Given the description of an element on the screen output the (x, y) to click on. 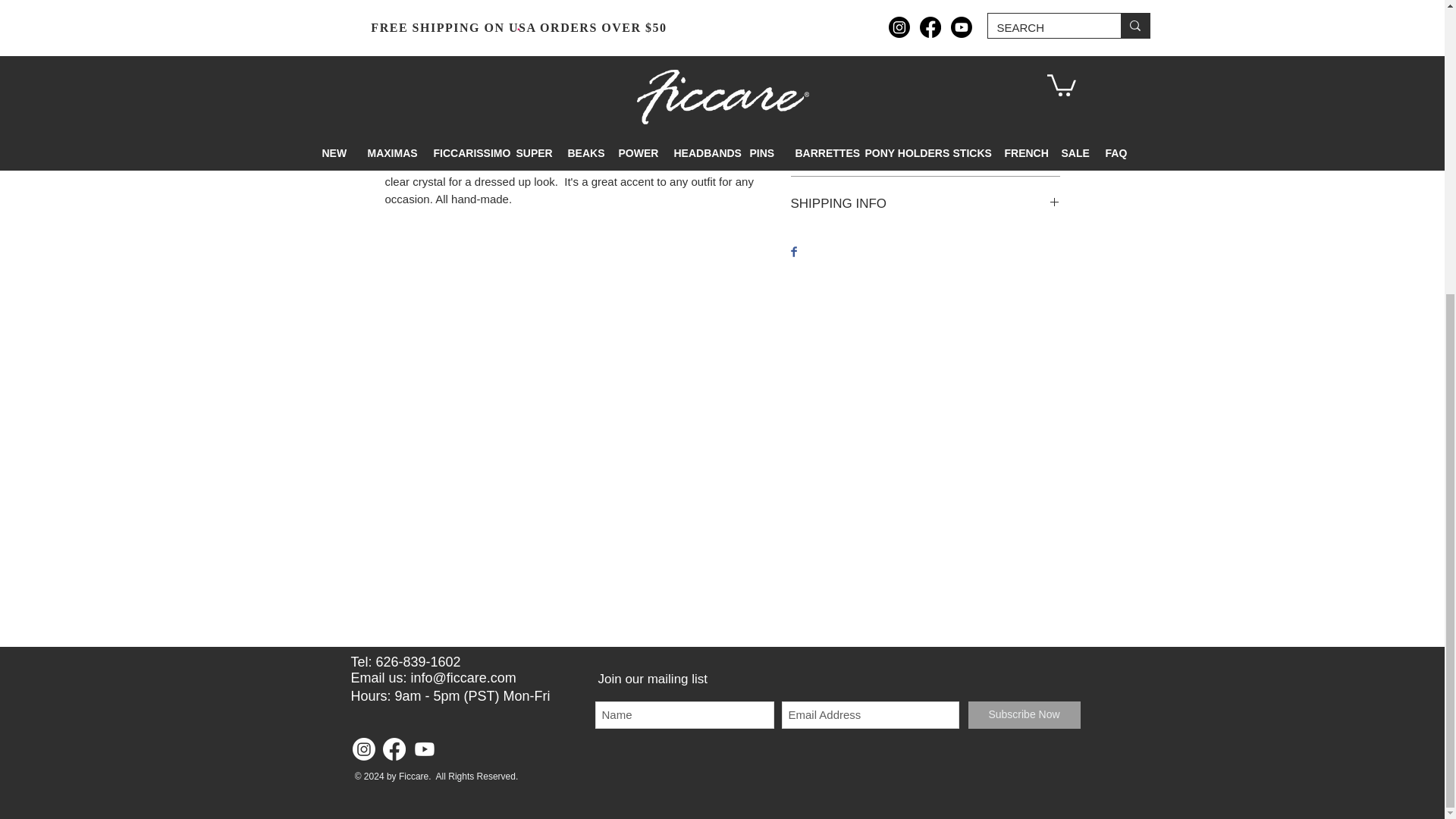
RETURN AND REFUND POLICY (924, 148)
Subscribe Now (1024, 714)
SHIPPING INFO (924, 203)
